Given the description of an element on the screen output the (x, y) to click on. 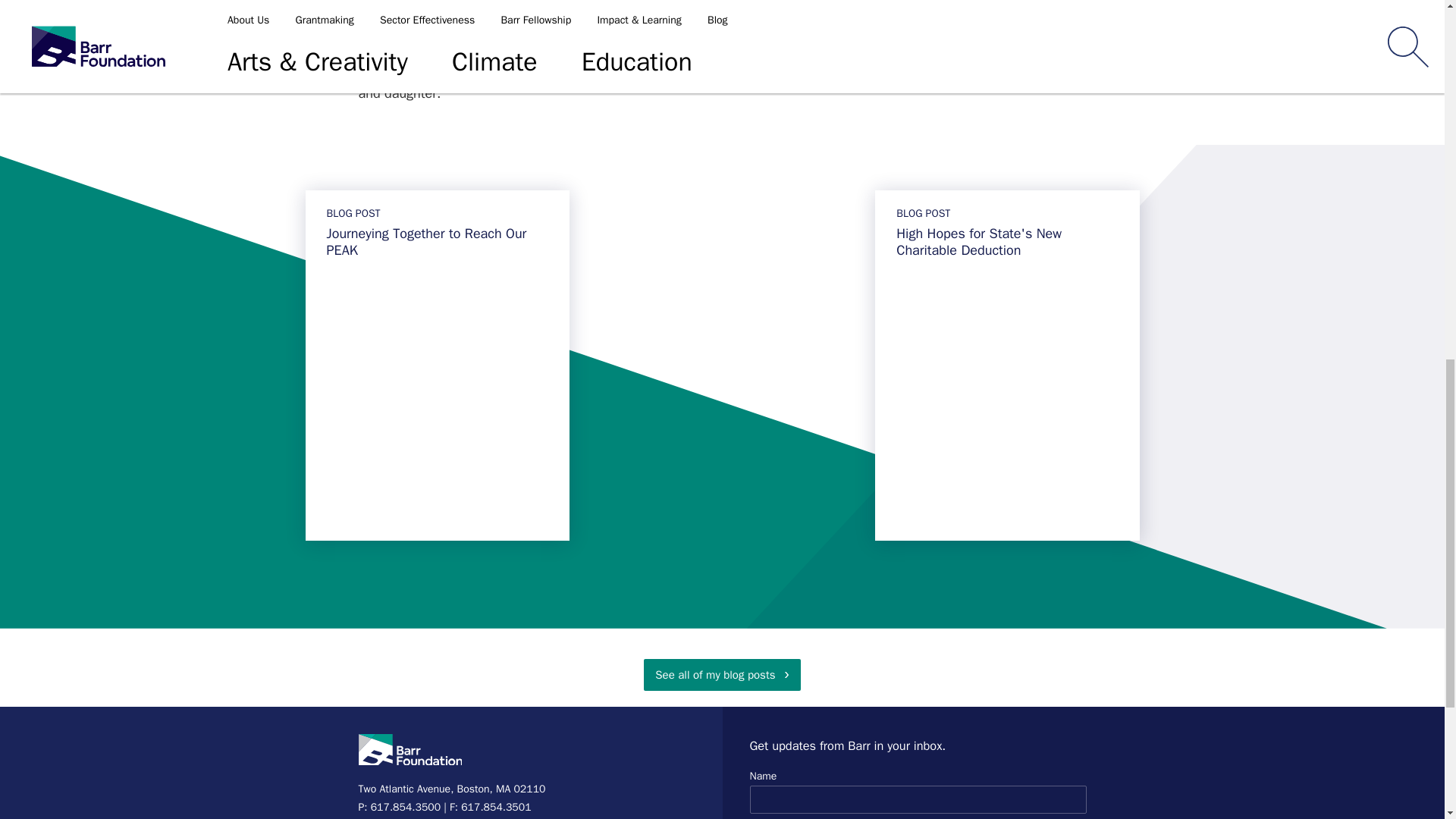
See all of my blog posts (721, 675)
